Given the description of an element on the screen output the (x, y) to click on. 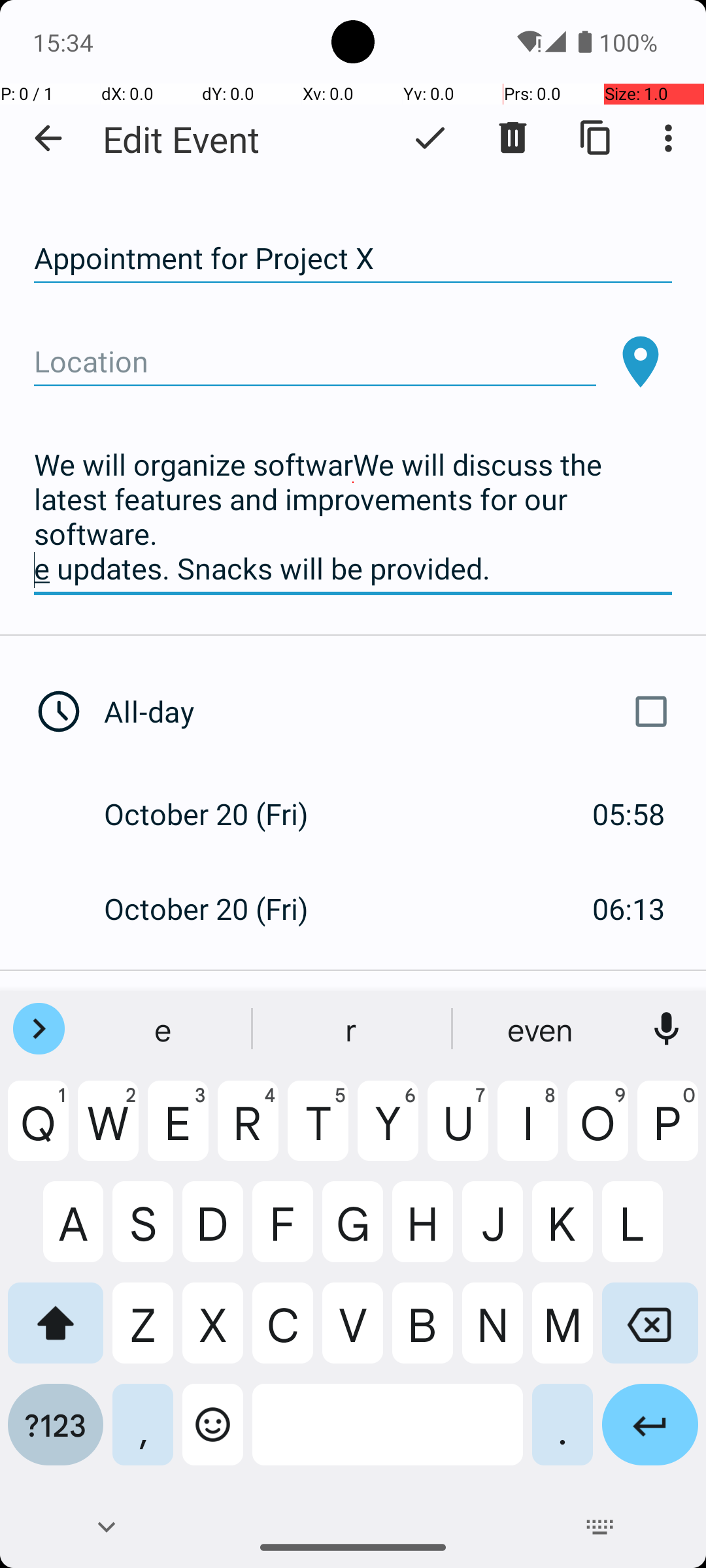
We will organize softwarWe will discuss the latest features and improvements for our software.
e updates. Snacks will be provided. Element type: android.widget.EditText (352, 516)
October 20 (Fri) Element type: android.widget.TextView (219, 813)
05:58 Element type: android.widget.TextView (628, 813)
06:13 Element type: android.widget.TextView (628, 908)
even Element type: android.widget.FrameLayout (541, 1028)
